Given the description of an element on the screen output the (x, y) to click on. 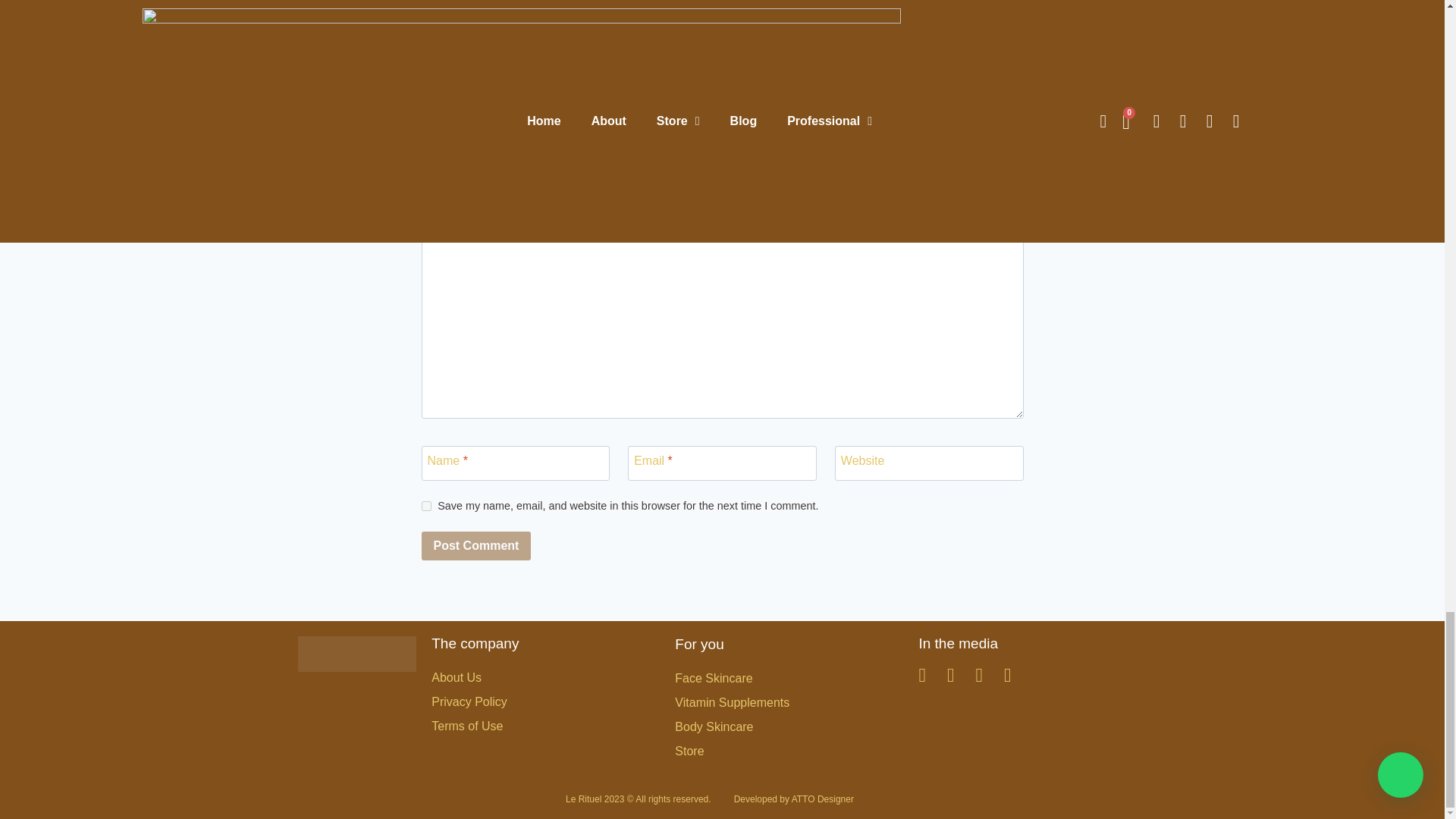
Post Comment (476, 545)
yes (426, 506)
